Given the description of an element on the screen output the (x, y) to click on. 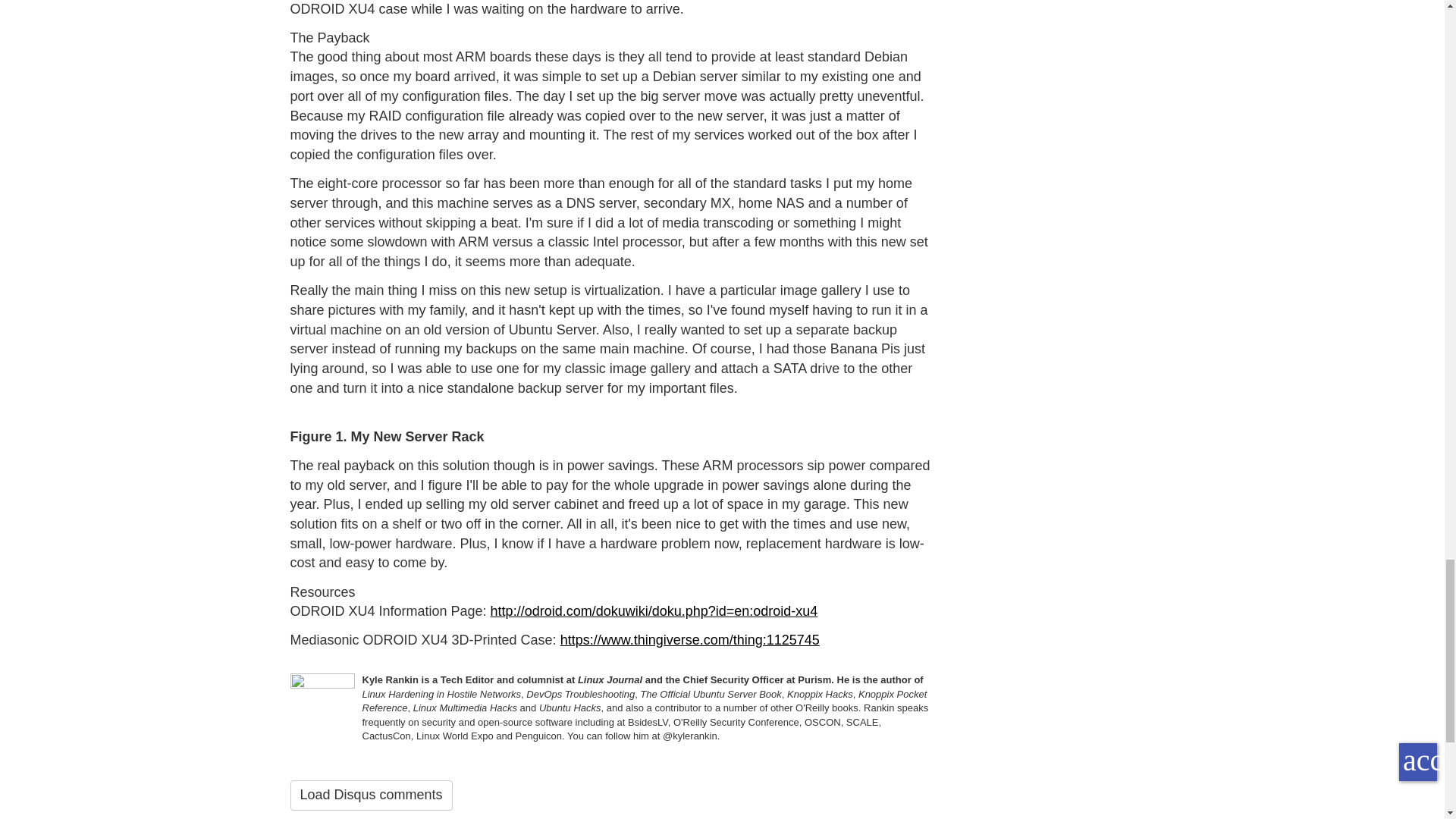
Load Disqus comments (370, 795)
